Given the description of an element on the screen output the (x, y) to click on. 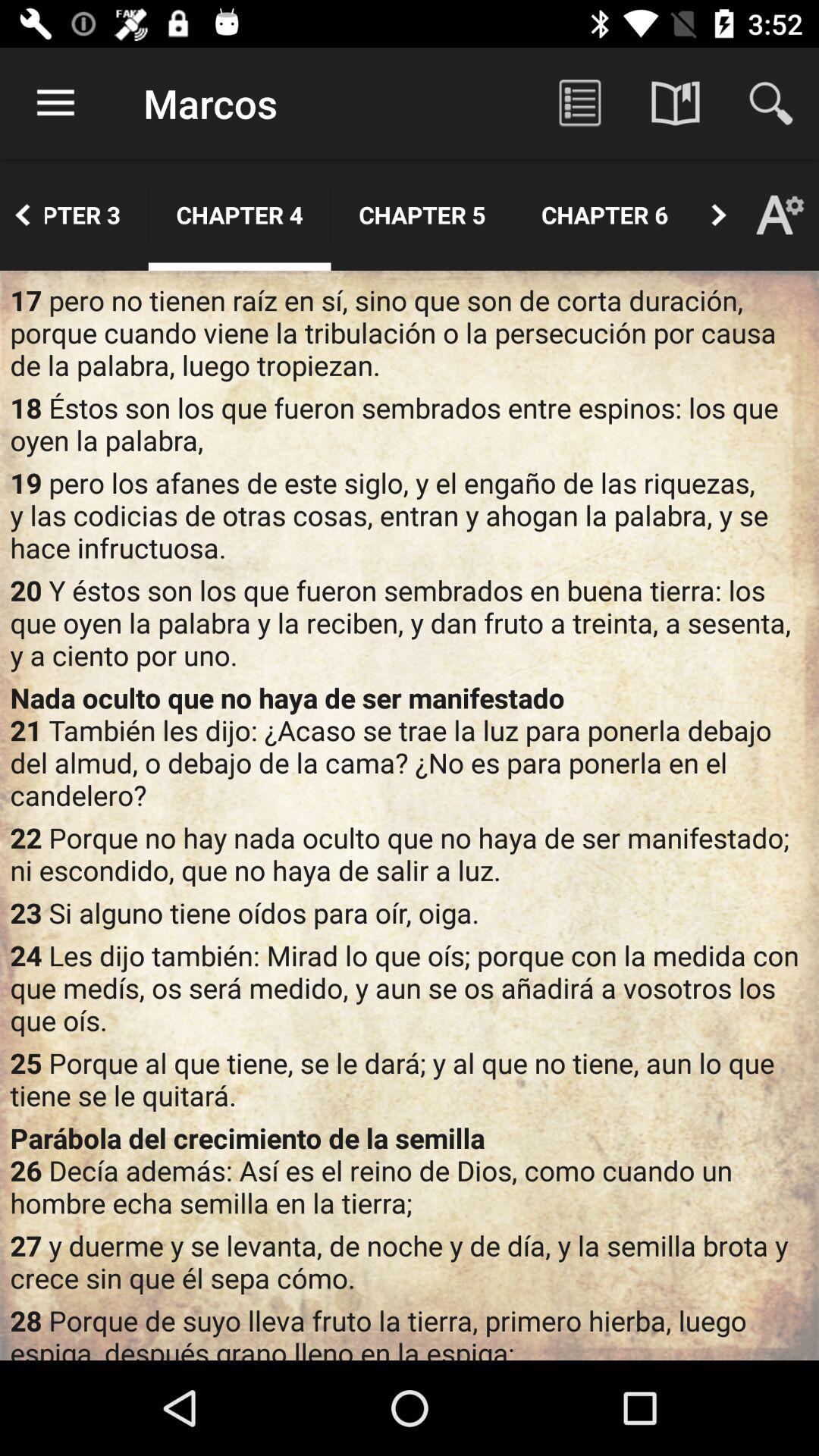
press icon above the 17 pero no icon (696, 214)
